Given the description of an element on the screen output the (x, y) to click on. 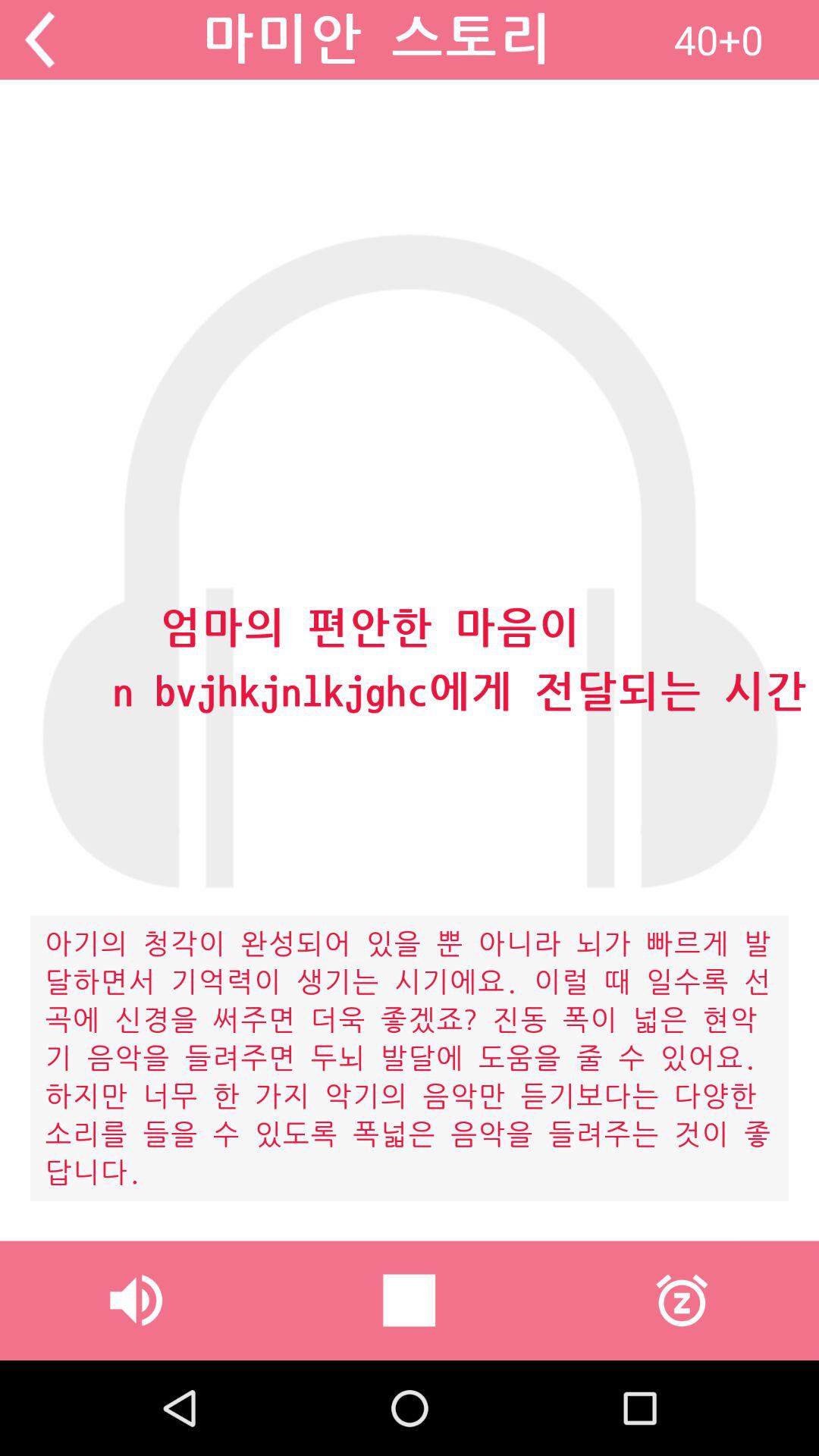
tap item at the top left corner (39, 39)
